Given the description of an element on the screen output the (x, y) to click on. 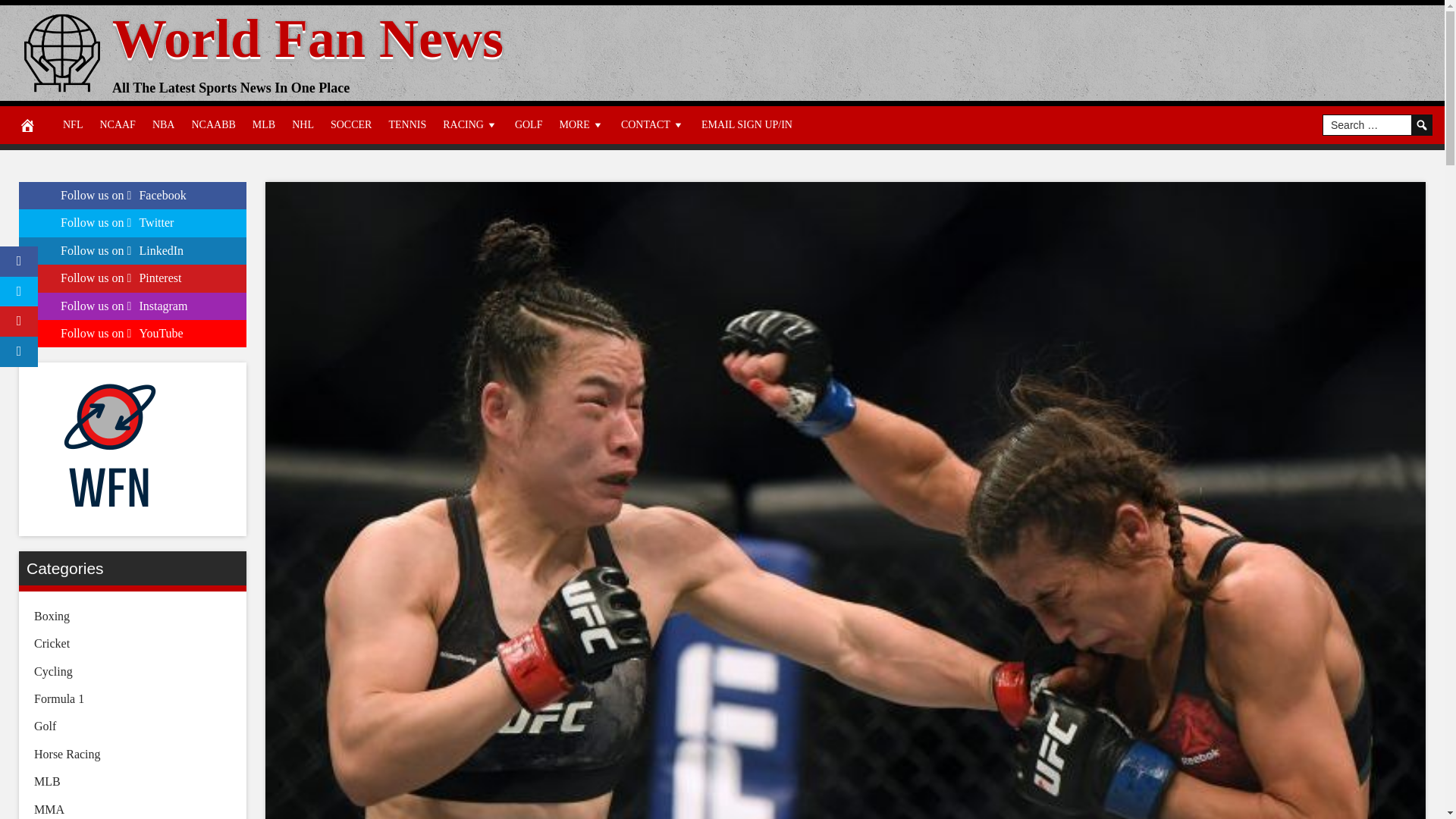
World Fan News (307, 38)
NCAABB (213, 125)
NBA (163, 125)
NCAAF (116, 125)
NFL (72, 125)
